Given the description of an element on the screen output the (x, y) to click on. 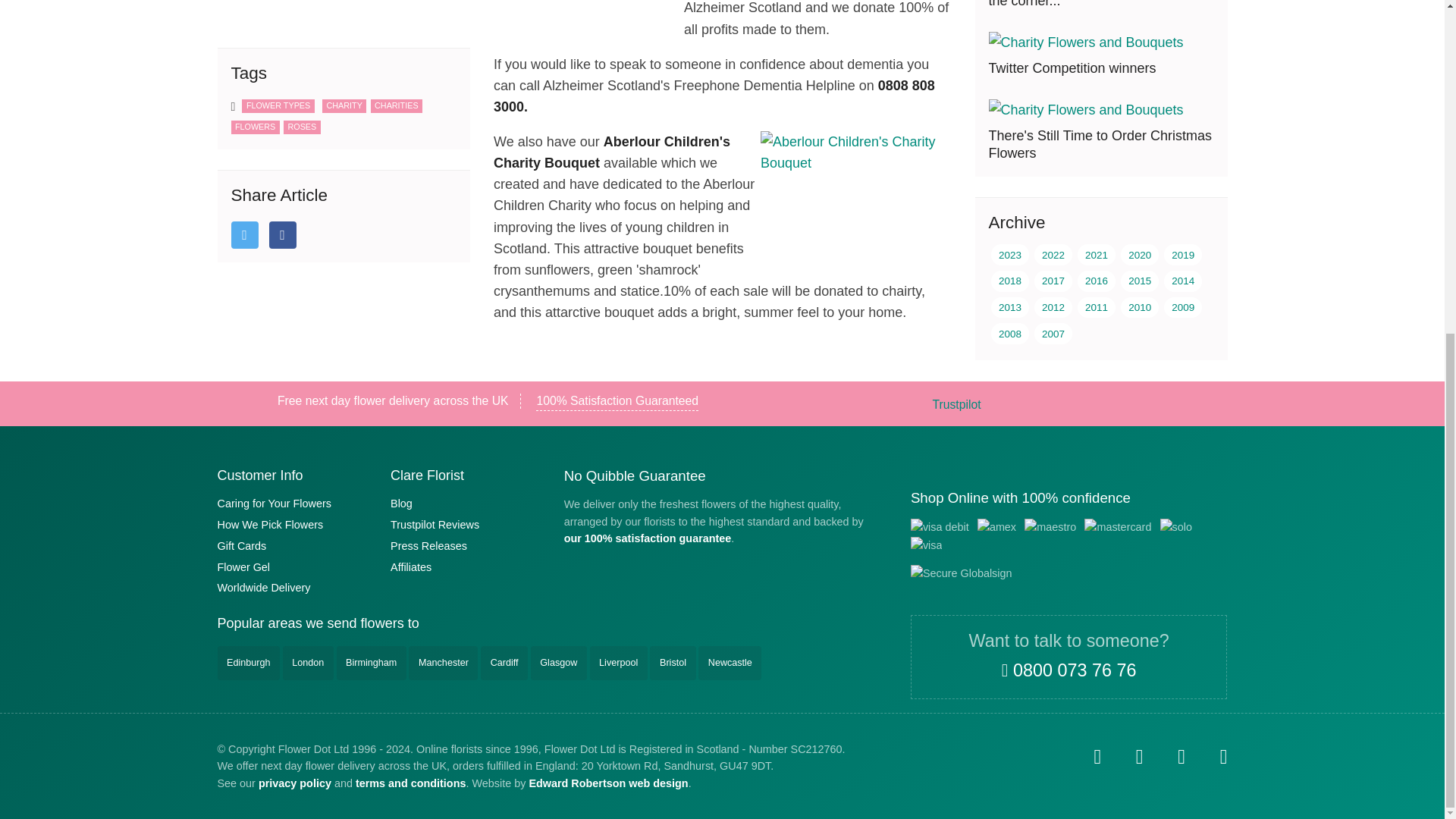
Show posts from 2007 (1052, 21)
Edinburgh (247, 663)
Show posts from 2013 (1010, 3)
Show posts from 2012 (1052, 3)
Show posts from 2011 (1096, 3)
Show posts from 2008 (1010, 21)
Show posts from 2010 (1139, 3)
Send flowers to (343, 622)
Show posts from 2009 (1182, 3)
